Given the description of an element on the screen output the (x, y) to click on. 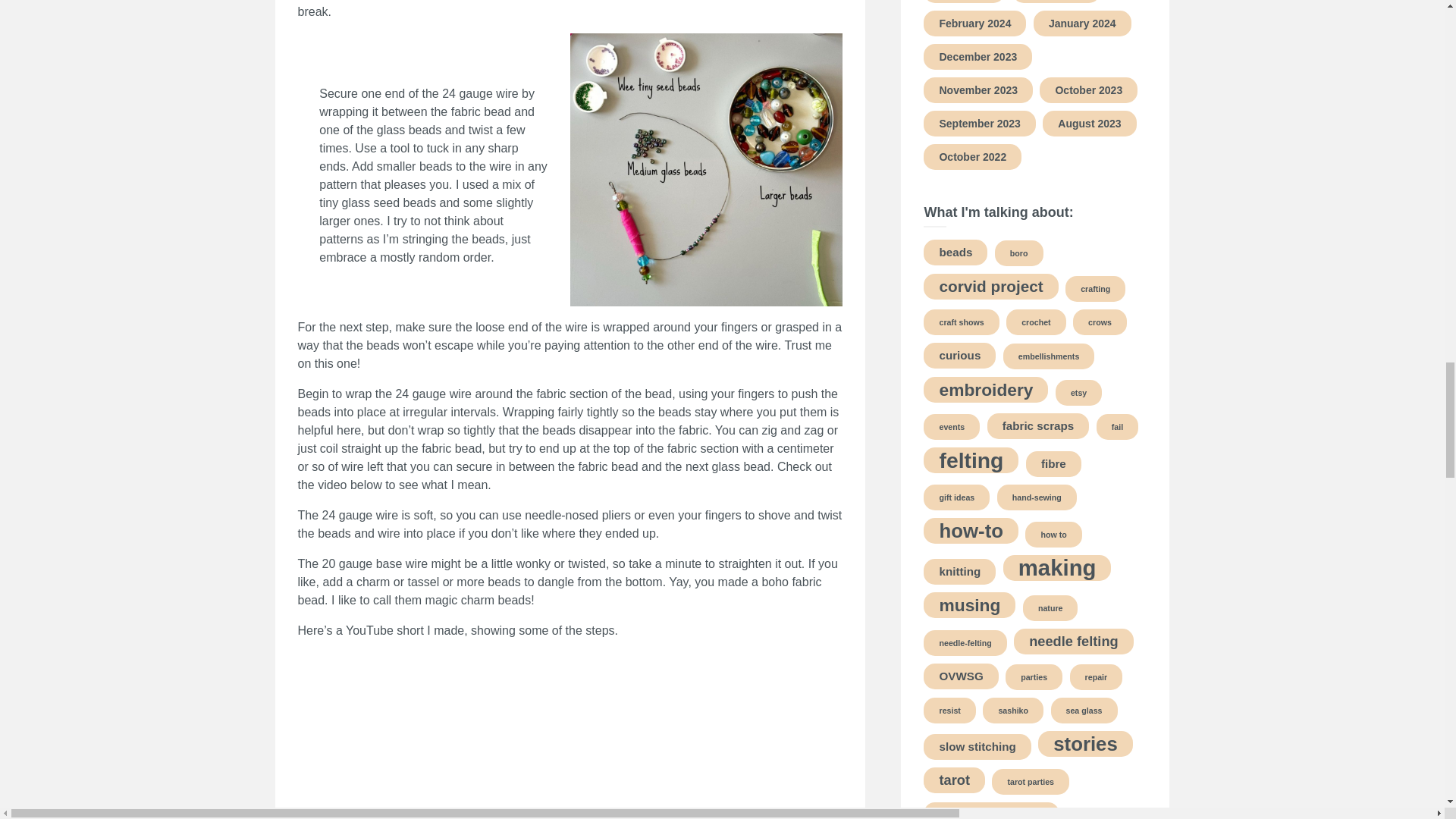
YouTube video player (509, 735)
